Given the description of an element on the screen output the (x, y) to click on. 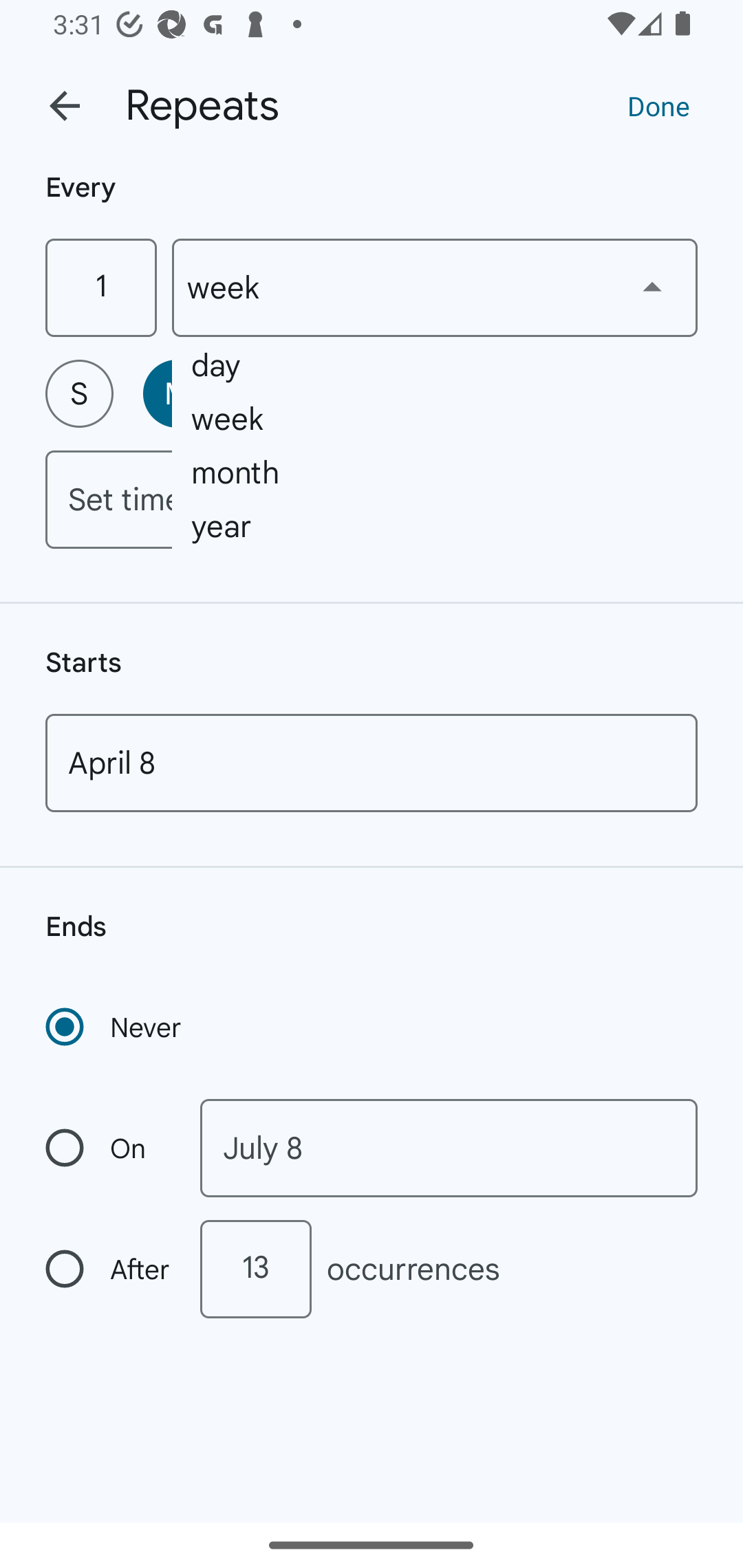
Back (64, 105)
Done (658, 105)
1 (100, 287)
week (434, 287)
Show dropdown menu (652, 286)
S Sunday (79, 393)
M Monday, selected (177, 393)
T Tuesday (273, 393)
W Wednesday (371, 393)
T Thursday (468, 393)
F Friday (566, 393)
S Saturday (663, 393)
Set time (371, 499)
April 8 (371, 762)
Never Recurrence never ends (115, 1026)
July 8 (448, 1148)
On Recurrence ends on a specific date (109, 1148)
13 (255, 1268)
